Given the description of an element on the screen output the (x, y) to click on. 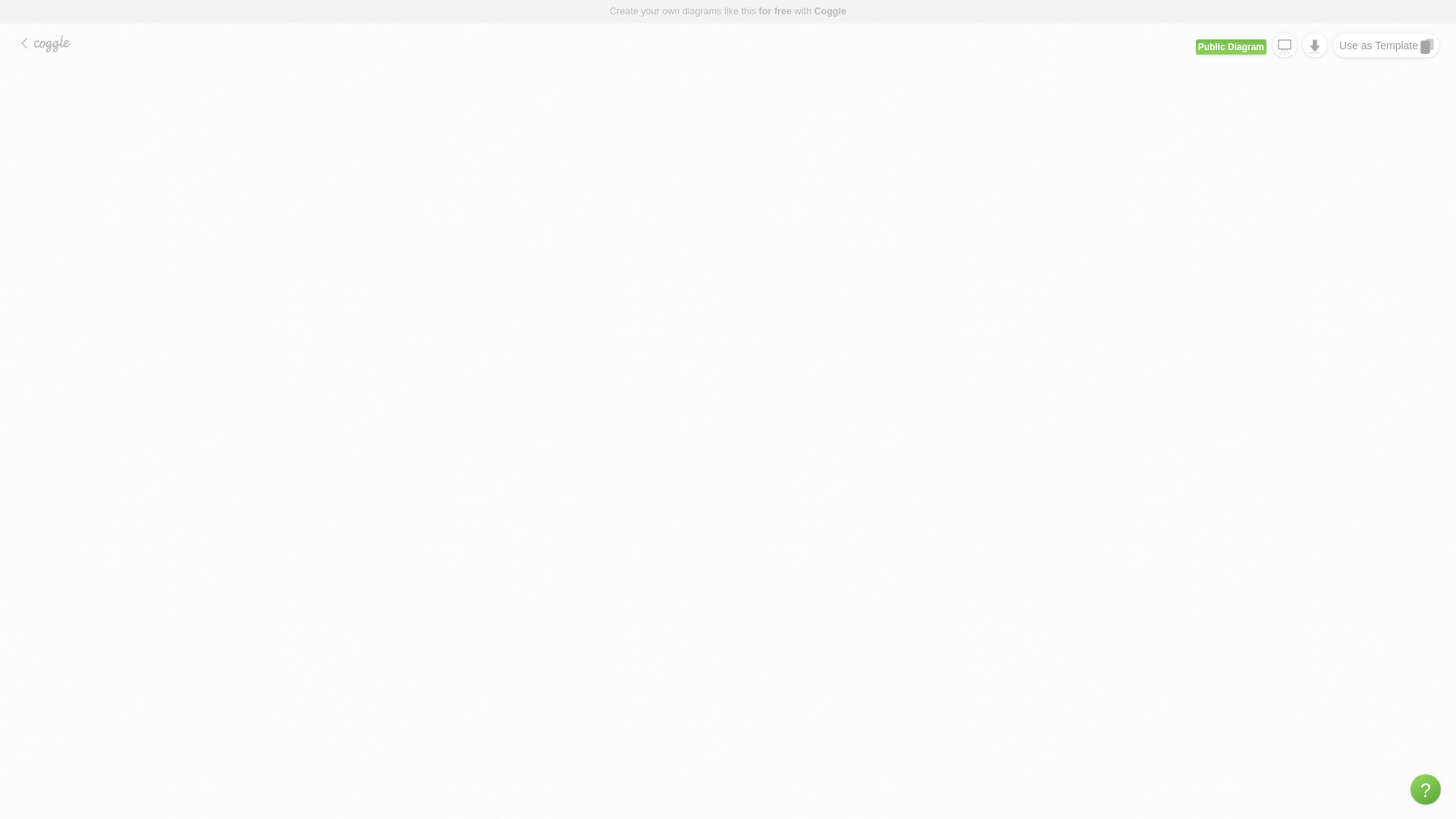
Coggle (829, 10)
Present and Review. (1284, 45)
Download this Coggle. (1314, 45)
Create your own copy of this diagram. (1378, 45)
